Given the description of an element on the screen output the (x, y) to click on. 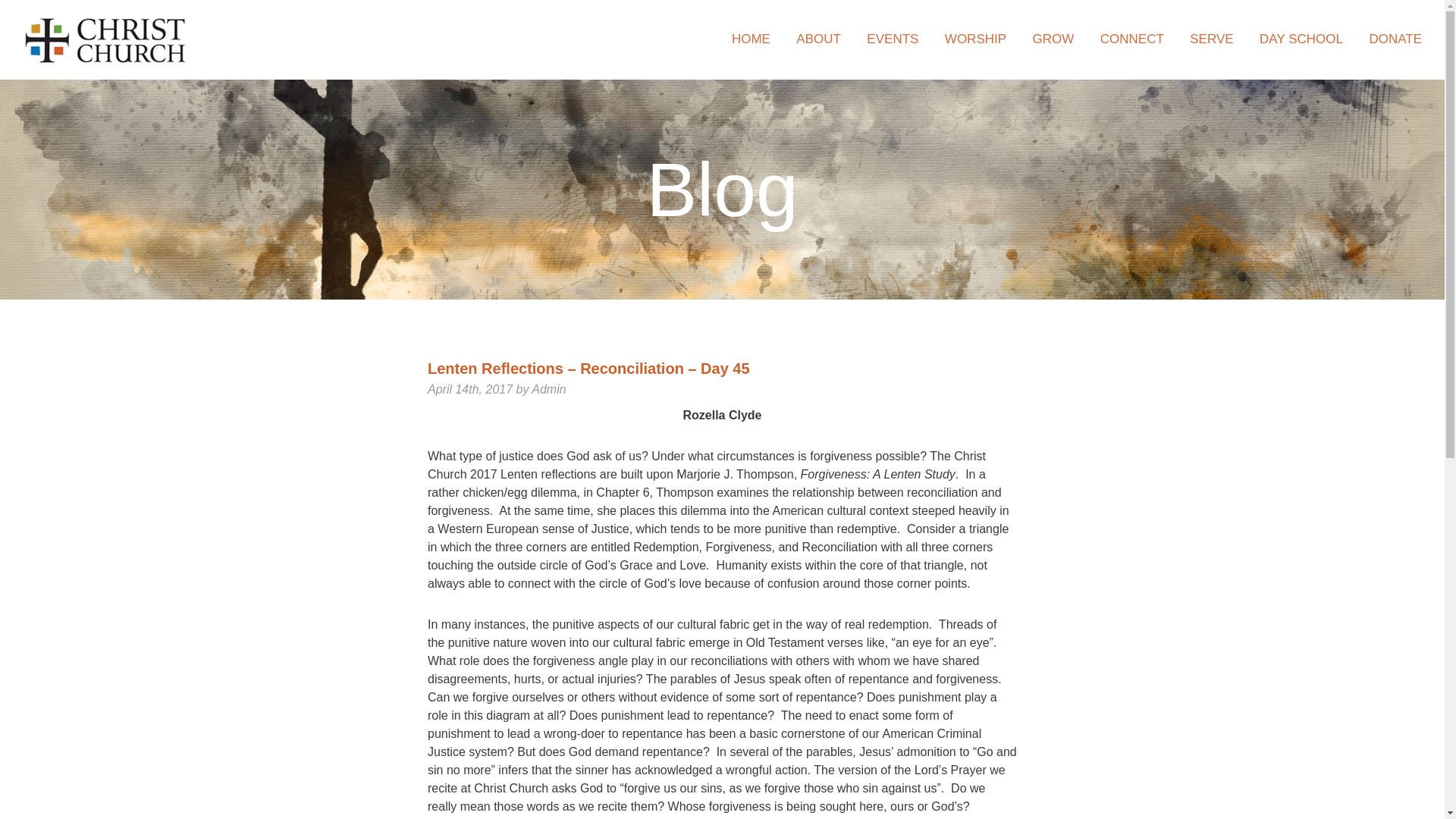
CONNECT (1131, 49)
GROW (1053, 49)
EVENTS (892, 49)
WORSHIP (975, 49)
HOME (751, 49)
ABOUT (818, 49)
SERVE (1211, 49)
